Given the description of an element on the screen output the (x, y) to click on. 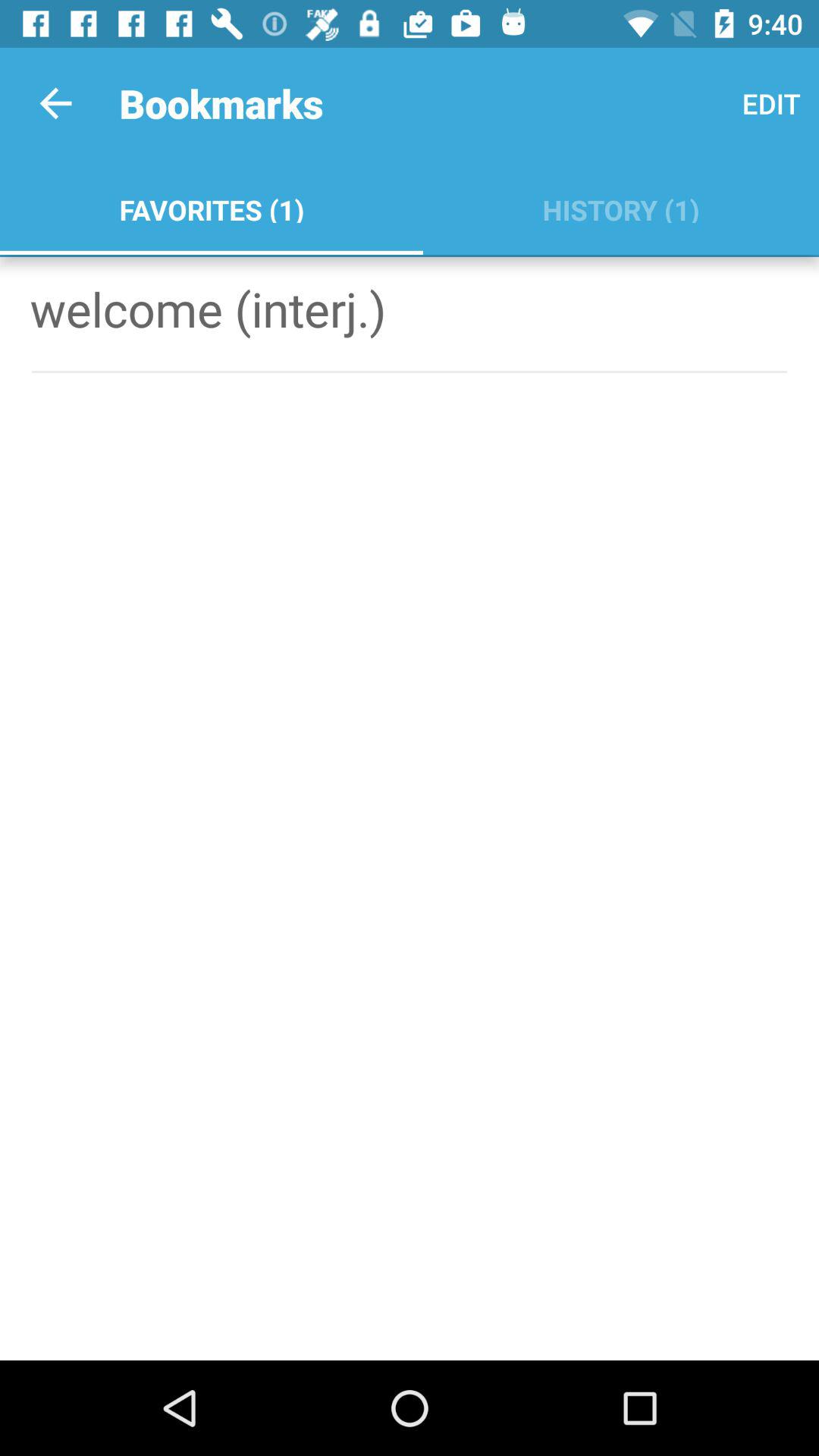
turn on app to the left of the bookmarks item (55, 103)
